Given the description of an element on the screen output the (x, y) to click on. 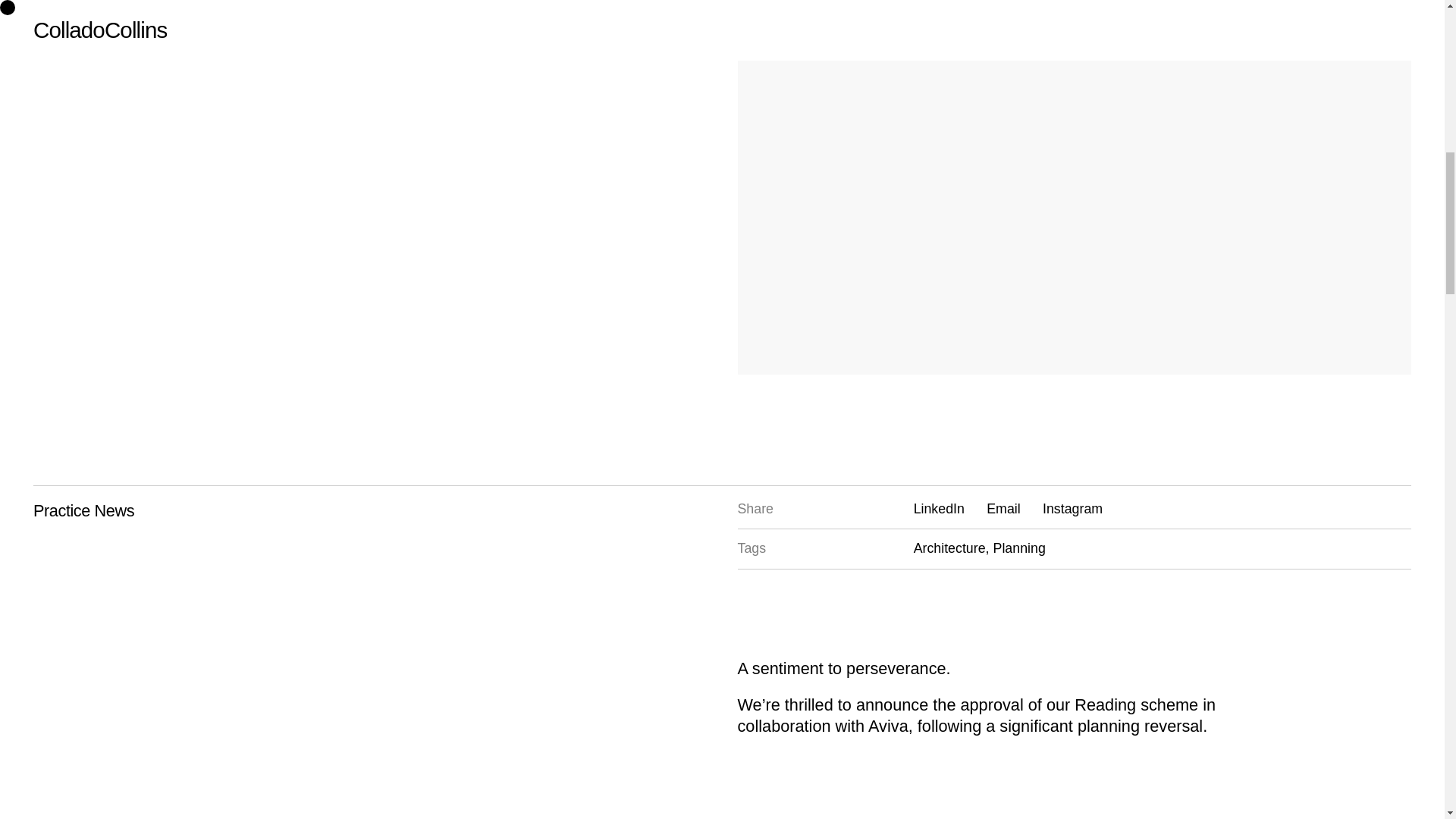
LinkedIn (938, 508)
Instagram (1072, 508)
Planning (1018, 548)
Architecture (952, 548)
Email (1003, 508)
